Given the description of an element on the screen output the (x, y) to click on. 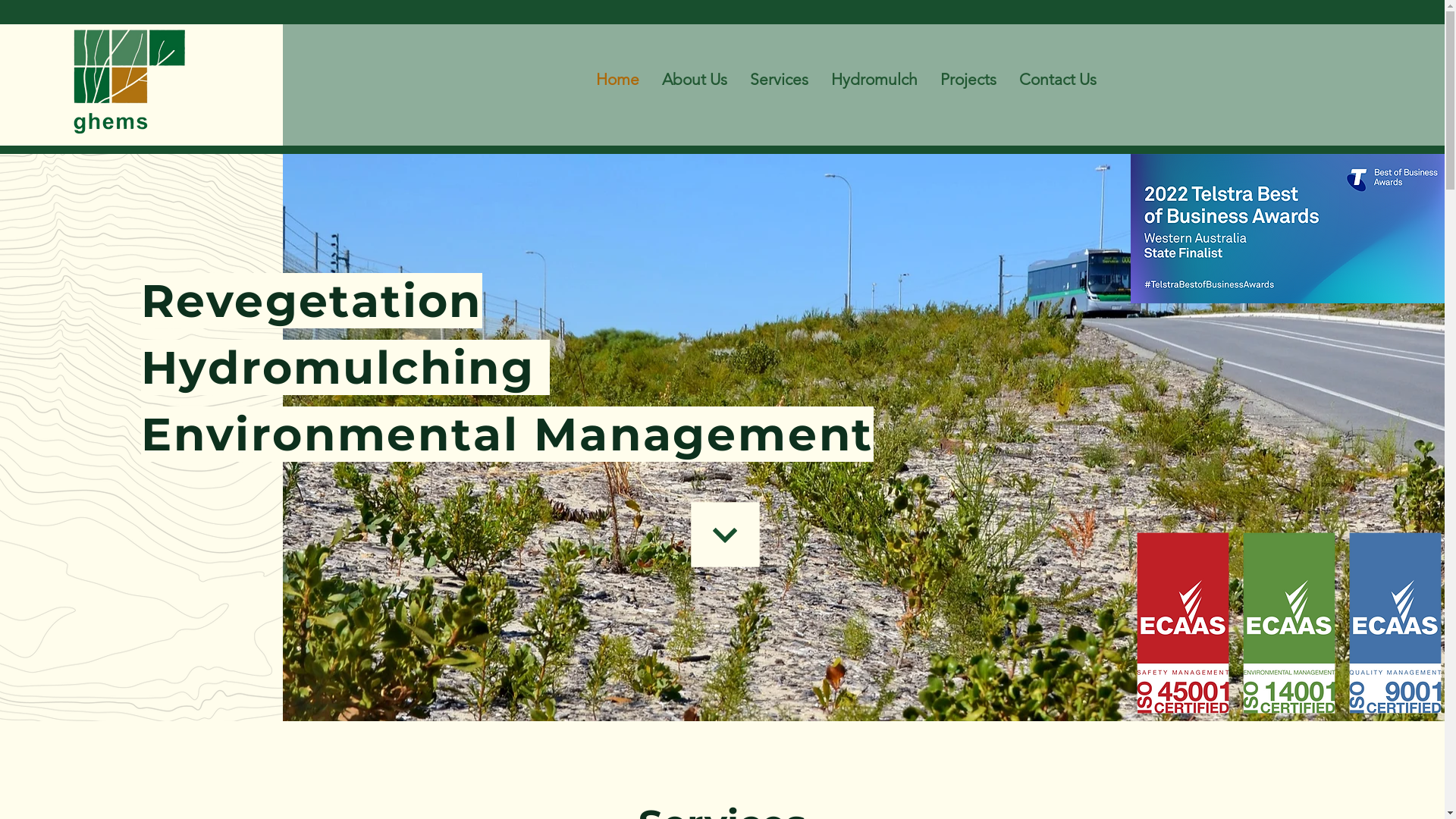
Contact Us Element type: text (1057, 79)
3.png Element type: hover (1288, 622)
Projects Element type: text (967, 79)
Services Element type: text (778, 79)
Hydromulch Element type: text (873, 79)
About Us Element type: text (694, 79)
Home Element type: text (617, 79)
